Given the description of an element on the screen output the (x, y) to click on. 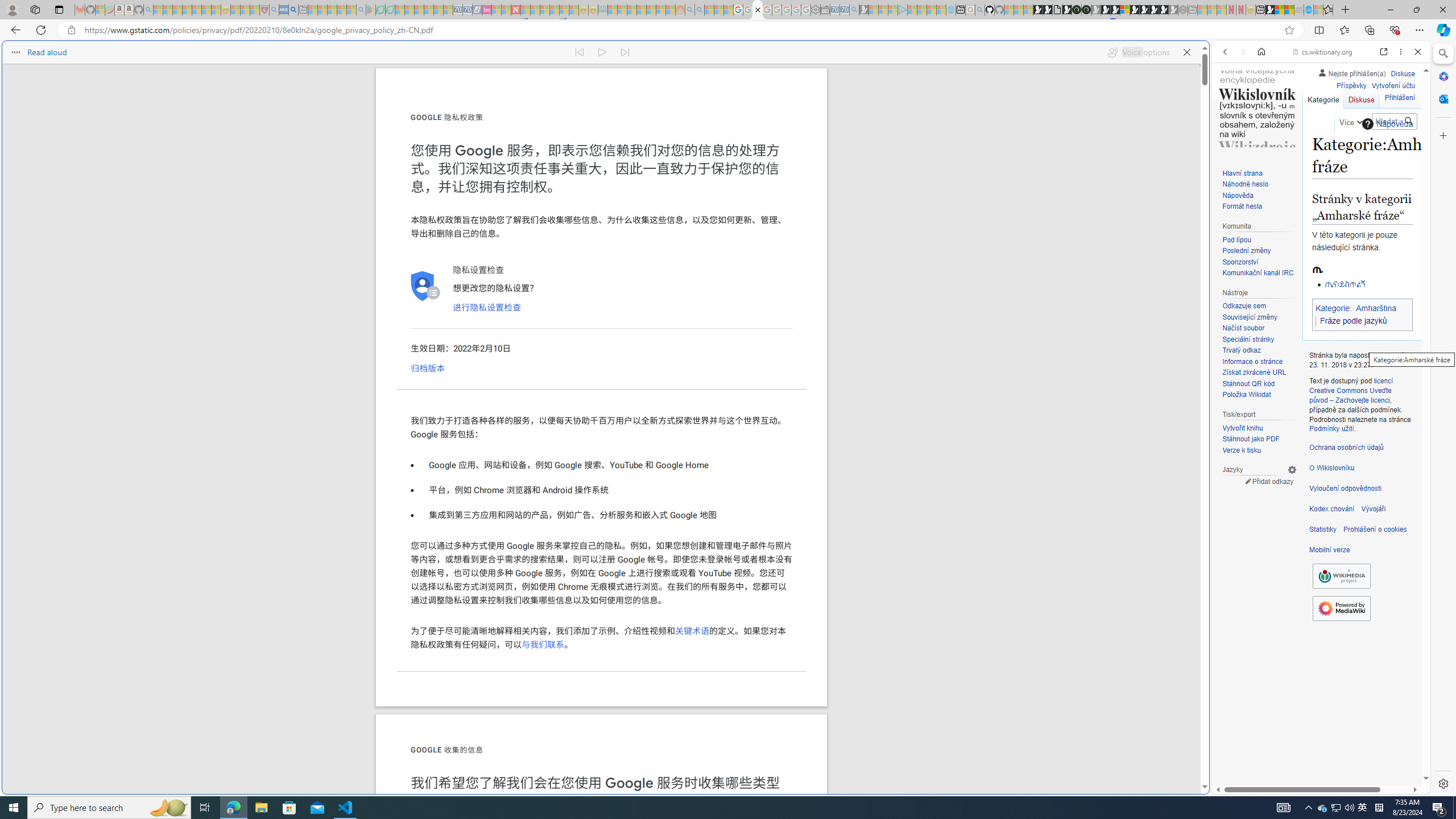
Diskuse (1360, 96)
Cheap Car Rentals - Save70.com - Sleeping (844, 9)
Wiktionary (1315, 380)
Kategorie (1323, 96)
